Given the description of an element on the screen output the (x, y) to click on. 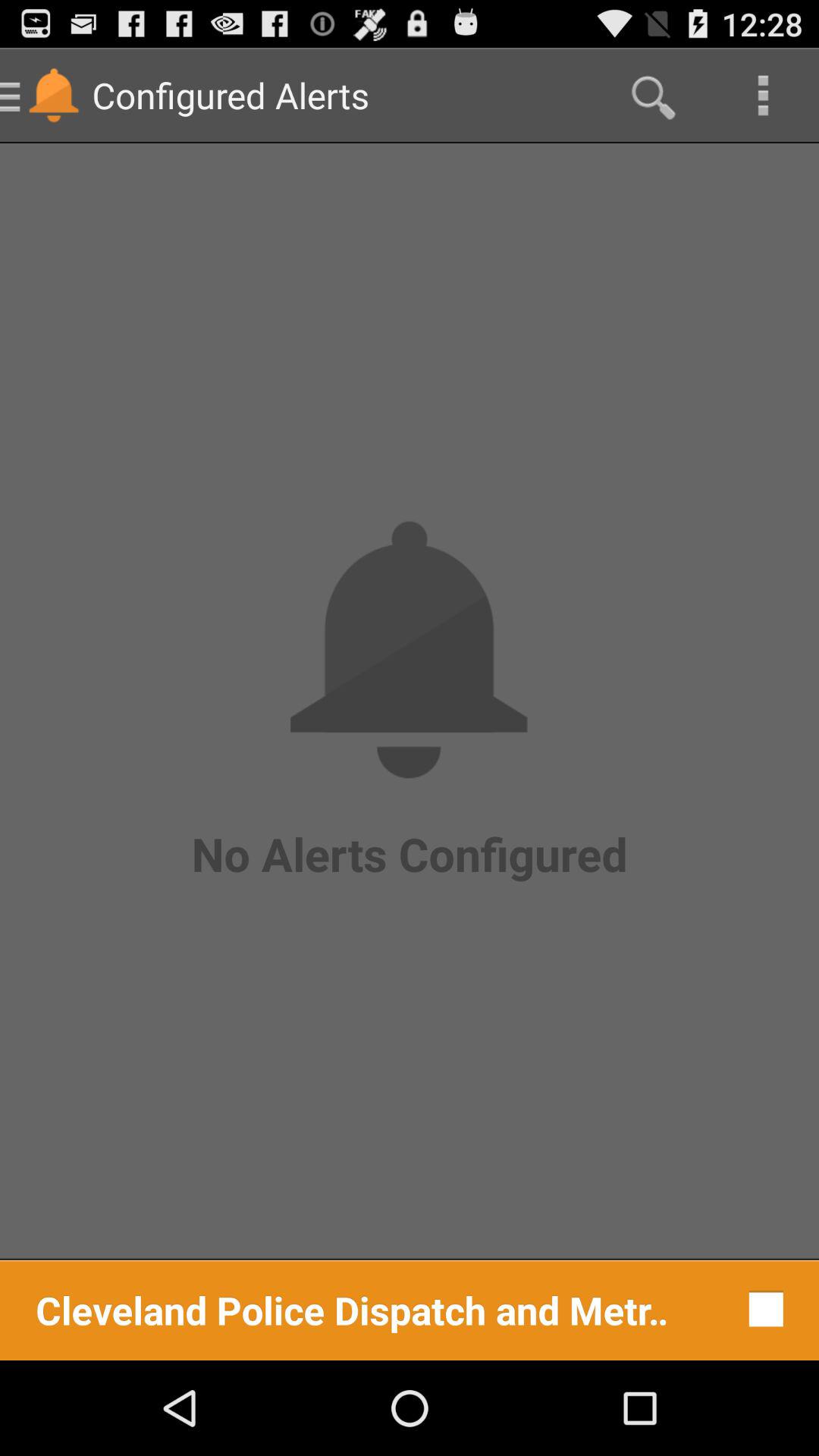
flip to the cleveland police dispatch button (352, 1309)
